Given the description of an element on the screen output the (x, y) to click on. 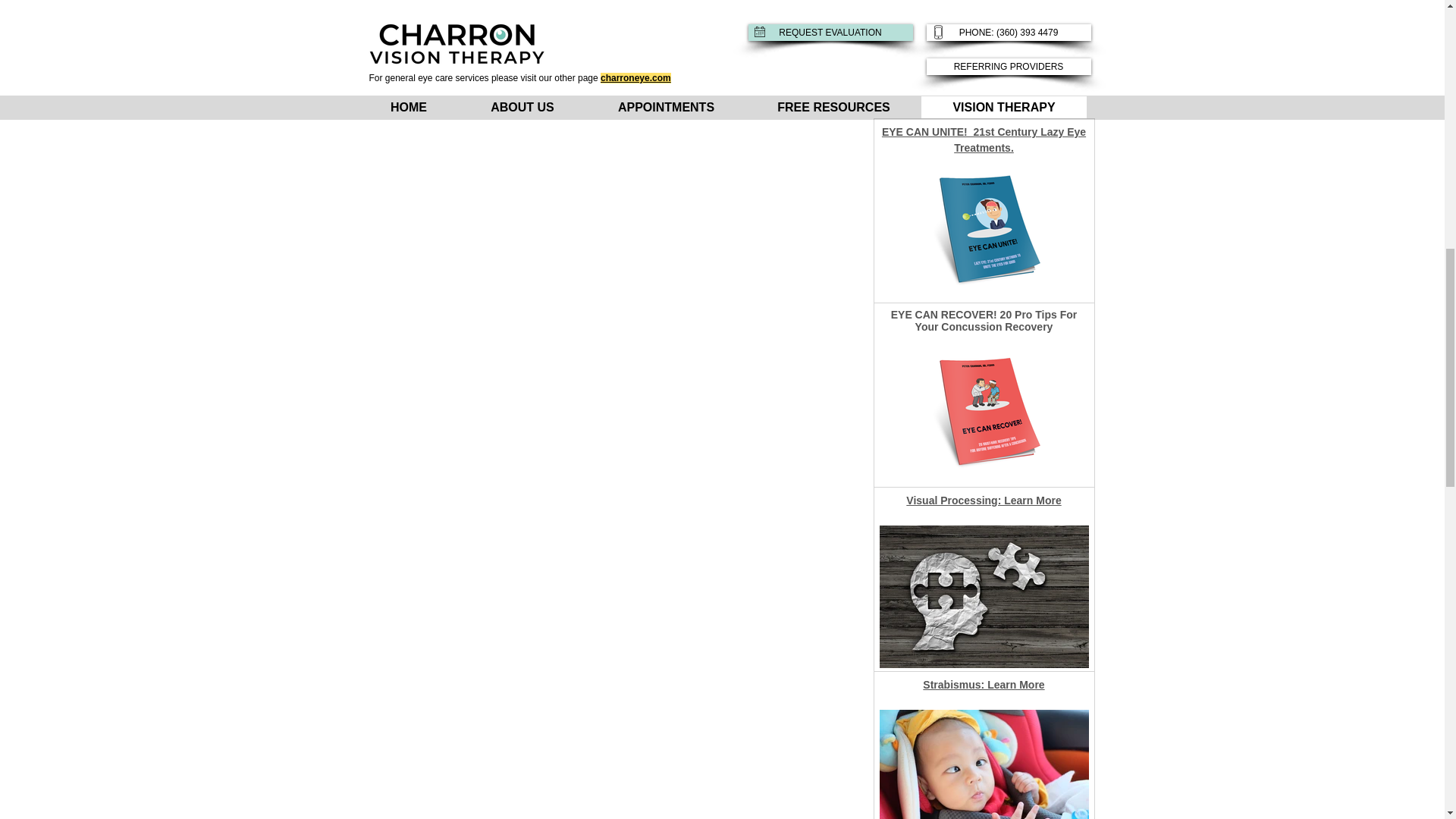
Baby ith strabismus (984, 764)
Eye Can Recover (984, 412)
Eye Can Focus (984, 57)
Eye Can Unite (984, 228)
3-2Eyecanread.png (984, 596)
